Given the description of an element on the screen output the (x, y) to click on. 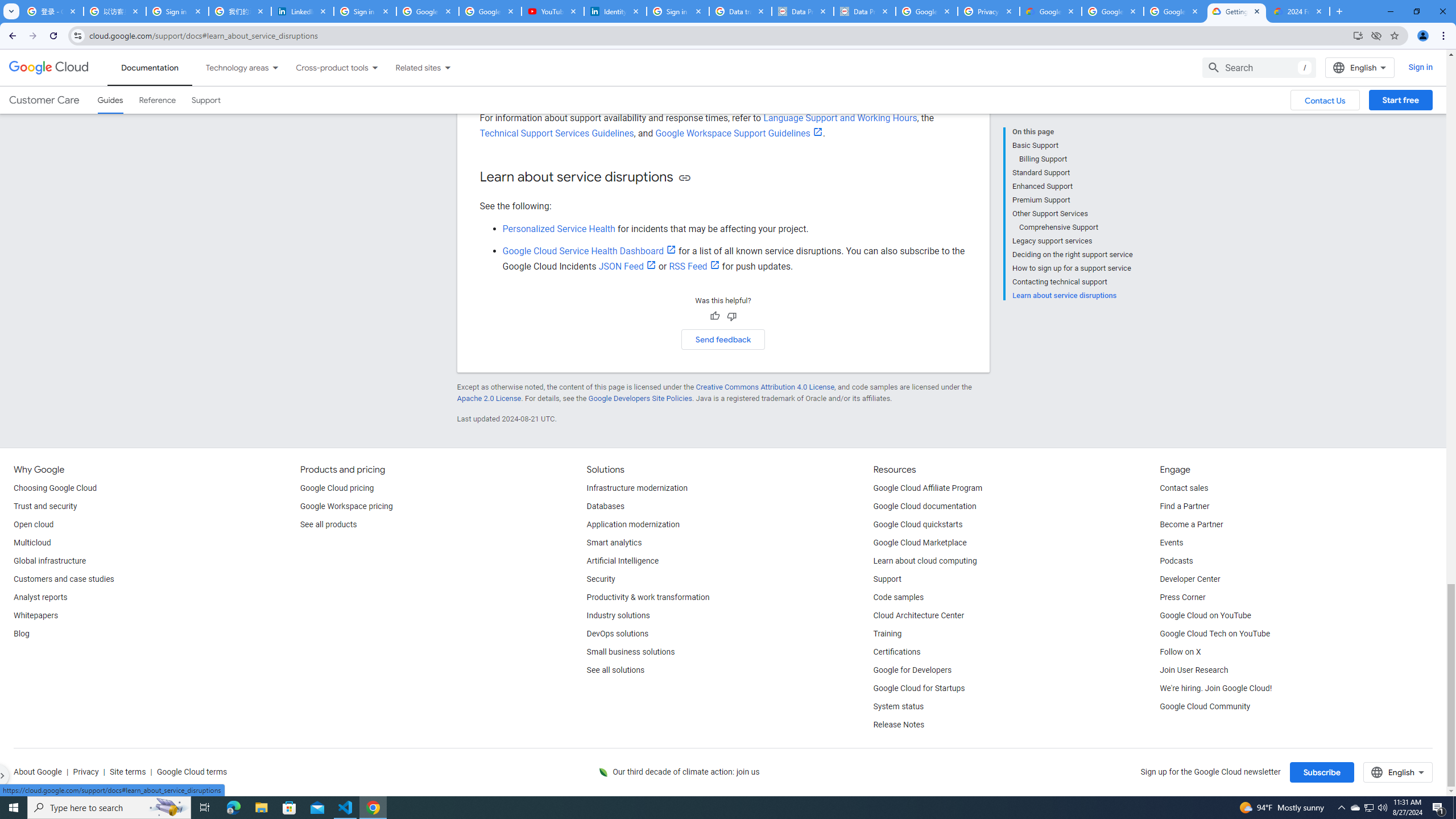
Google for Developers (912, 670)
About Google (37, 772)
Subscribe (1322, 772)
Google Workspace pricing (346, 506)
Cloud Architecture Center (918, 615)
Google Cloud (48, 67)
learn how to manage support cases (743, 95)
Customers and case studies (64, 579)
Small business solutions (630, 651)
Follow on X (1179, 651)
